Given the description of an element on the screen output the (x, y) to click on. 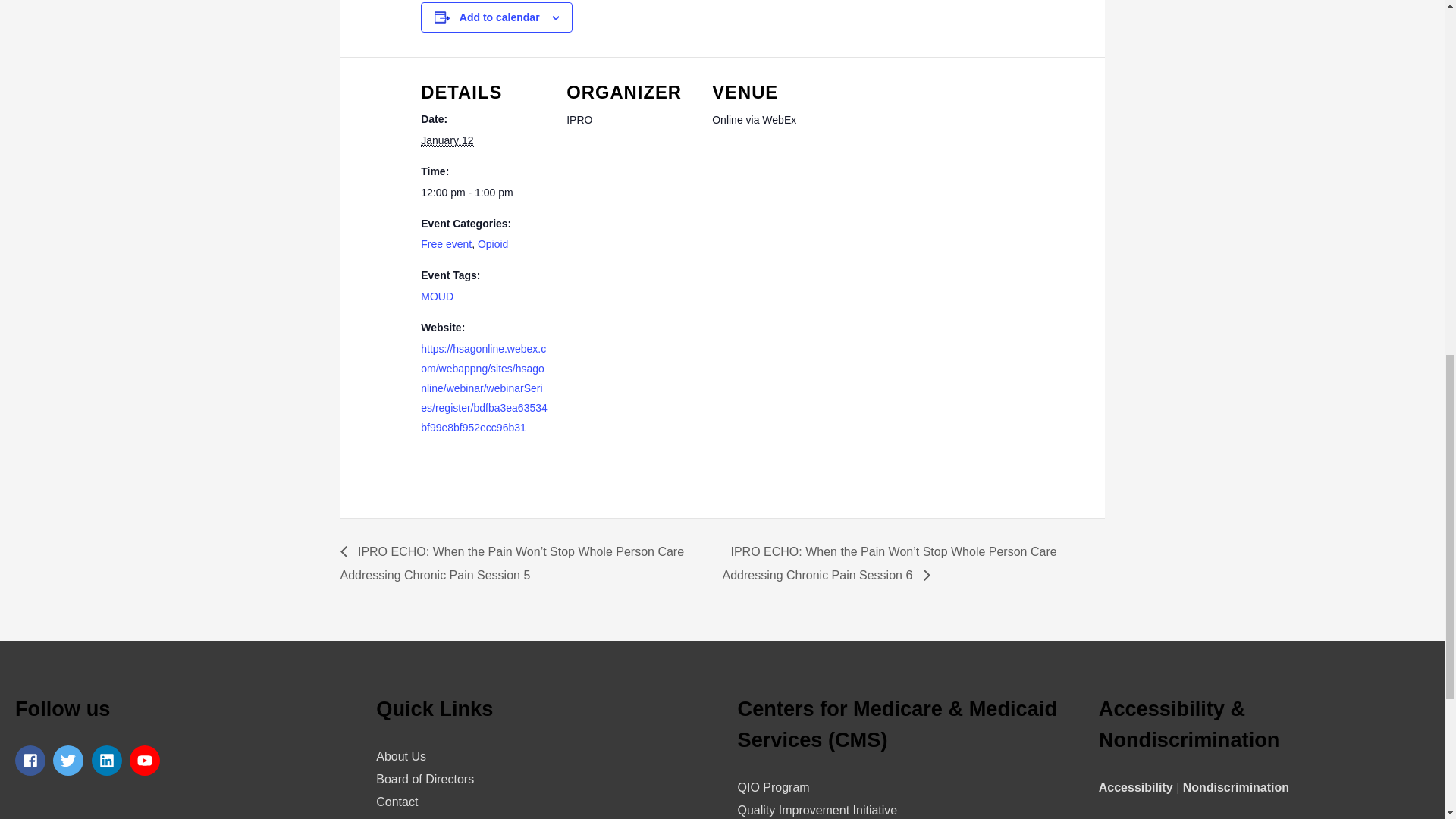
Add to calendar (500, 17)
Opioid (492, 244)
2024-01-12 (446, 140)
MOUD (436, 296)
2024-01-12 (484, 193)
Free event (445, 244)
